Given the description of an element on the screen output the (x, y) to click on. 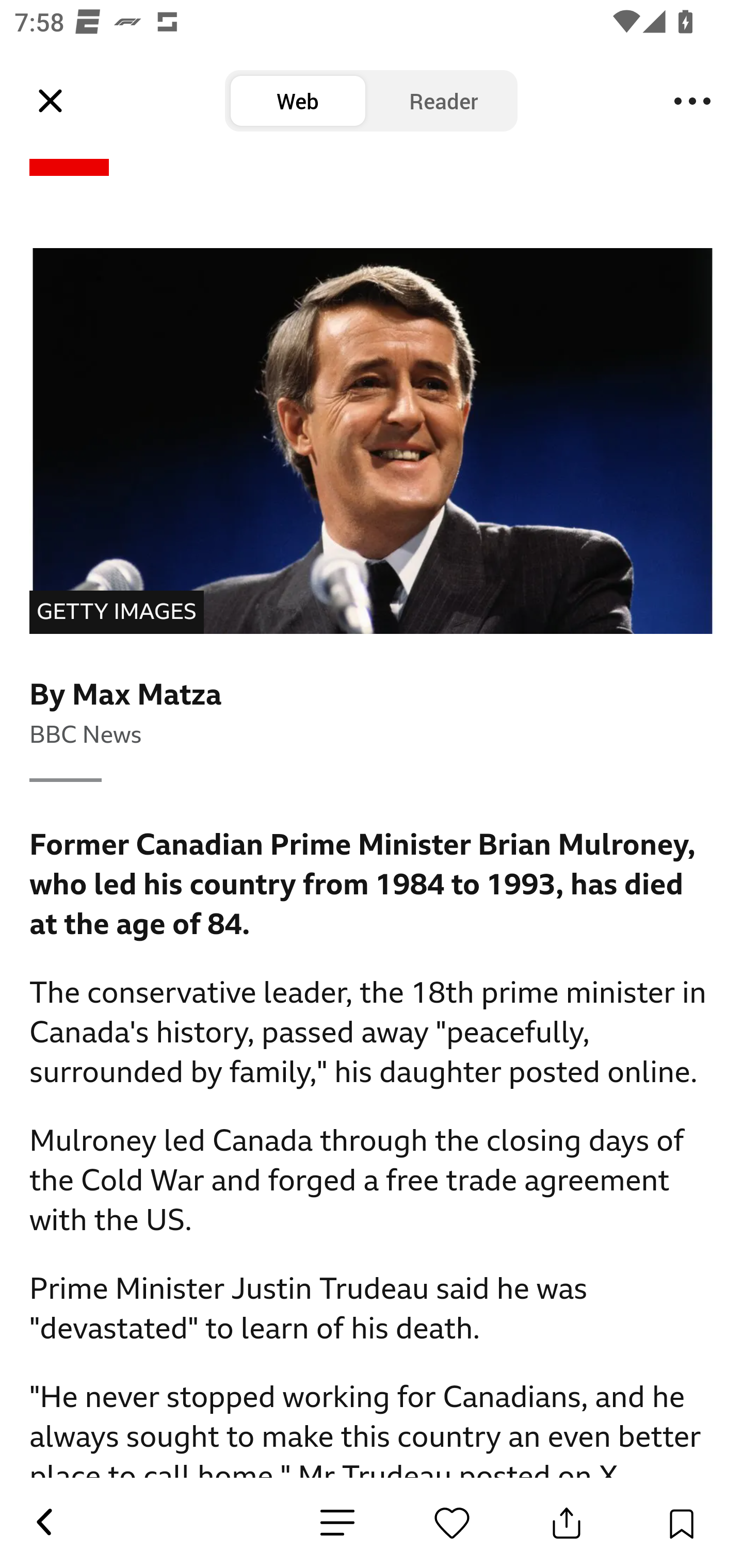
Leading Icon (50, 101)
Reader (443, 101)
Menu (692, 101)
Back Button (43, 1523)
News Detail Emotion (451, 1523)
Share Button (566, 1523)
Save Button (680, 1523)
News Detail Emotion (337, 1523)
